Given the description of an element on the screen output the (x, y) to click on. 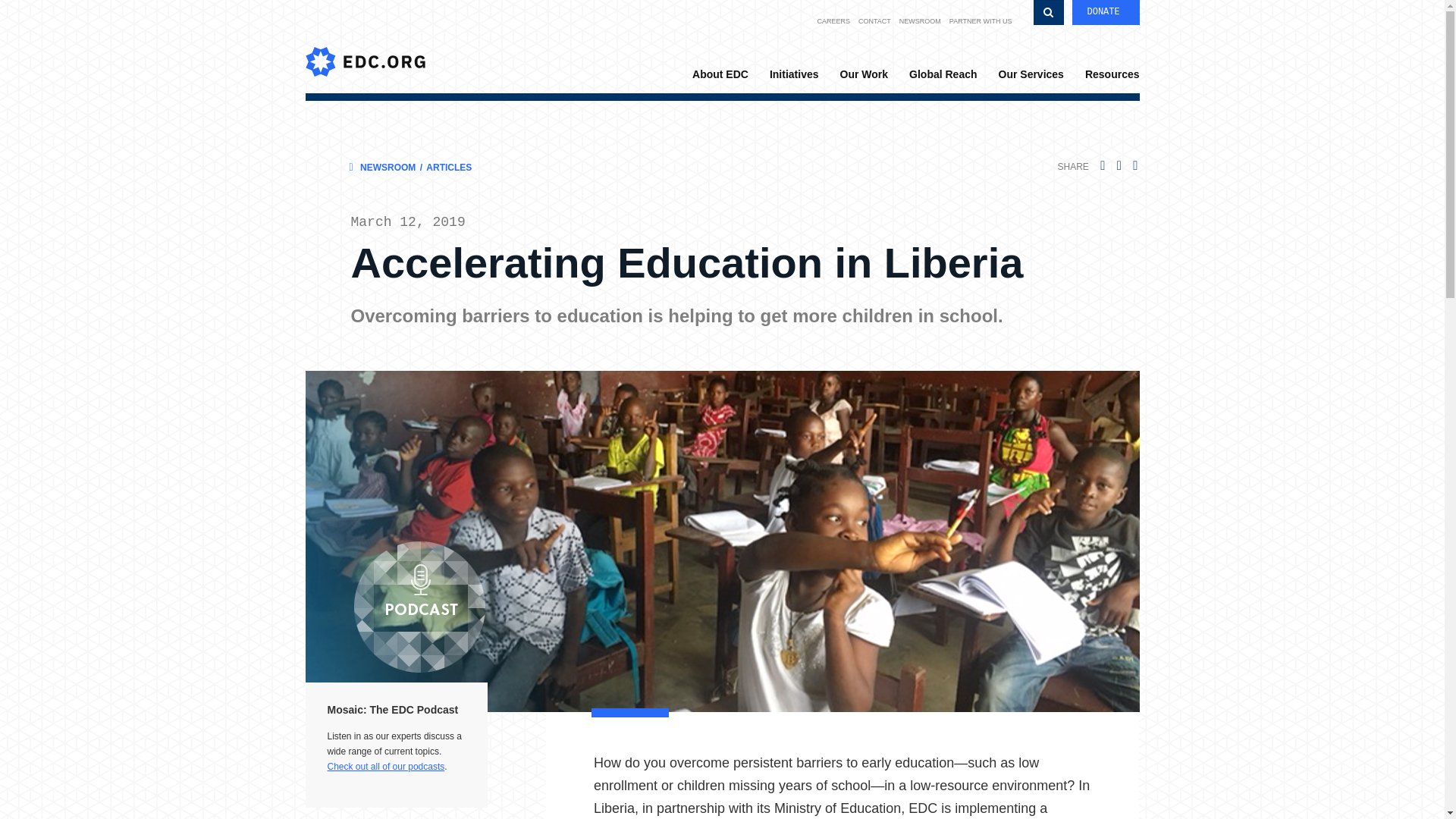
Our Work (864, 76)
Initiatives (794, 76)
Home (364, 46)
About EDC (720, 76)
